Given the description of an element on the screen output the (x, y) to click on. 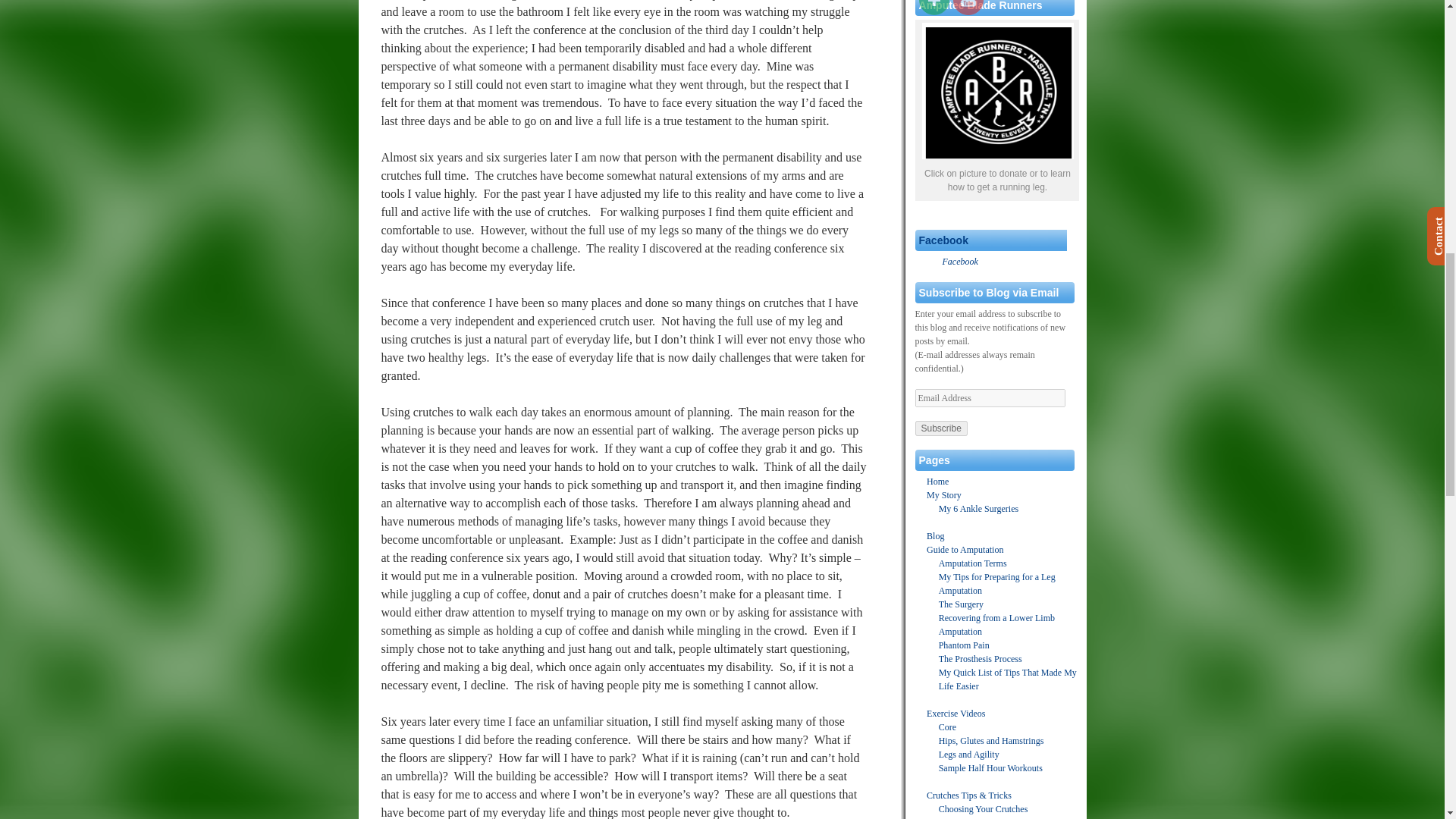
Subscribe (940, 427)
SHARE (933, 7)
YouTube (967, 7)
